Given the description of an element on the screen output the (x, y) to click on. 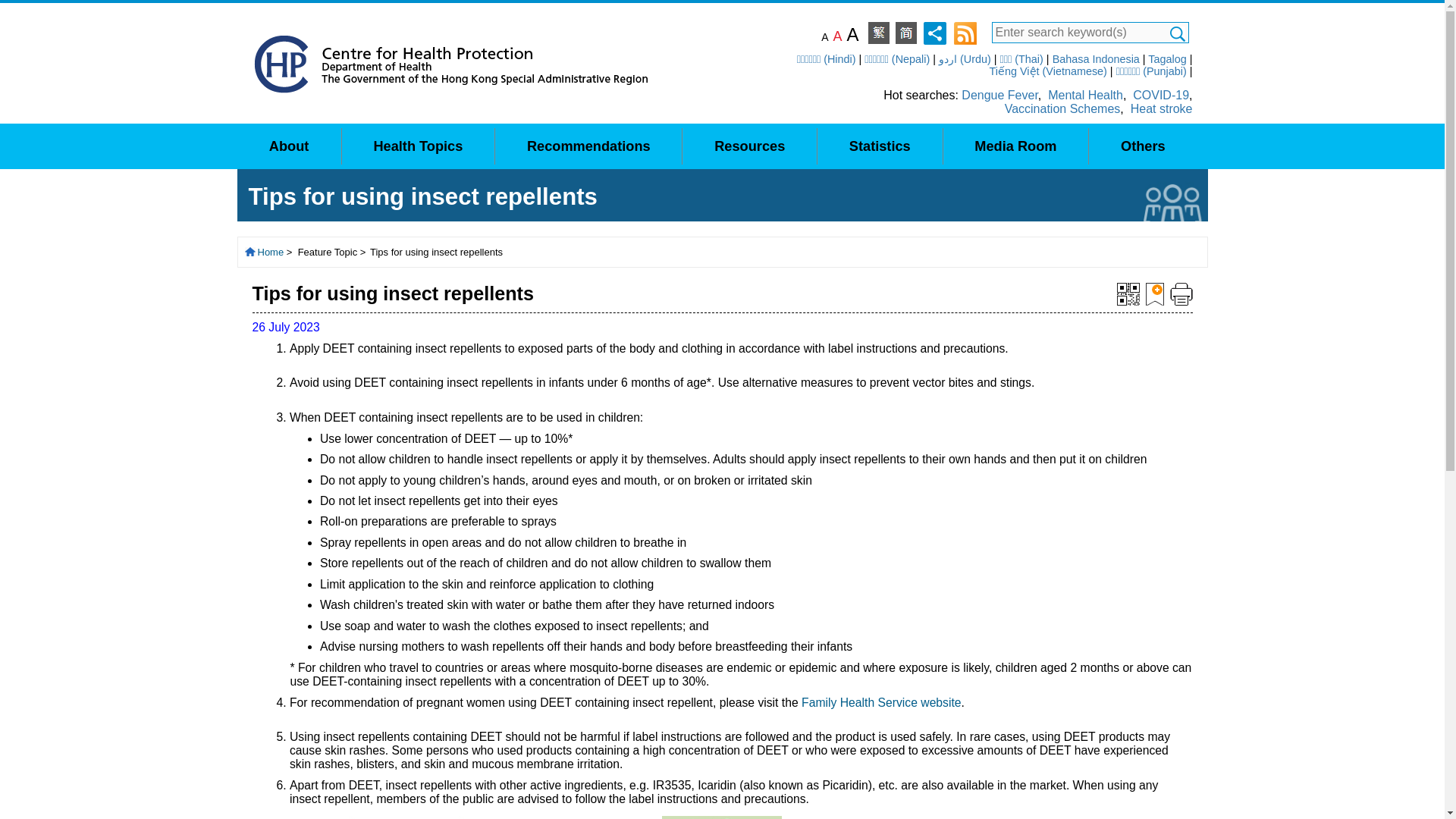
Tagalog (1167, 59)
RSS (964, 31)
COVID-19 (1160, 94)
Share (934, 31)
Bahasa Indonesia (1096, 59)
Search (1177, 33)
Heat stroke (1161, 108)
Vaccination Schemes (1062, 108)
Mental Health (1085, 94)
Dengue Fever (999, 94)
